Given the description of an element on the screen output the (x, y) to click on. 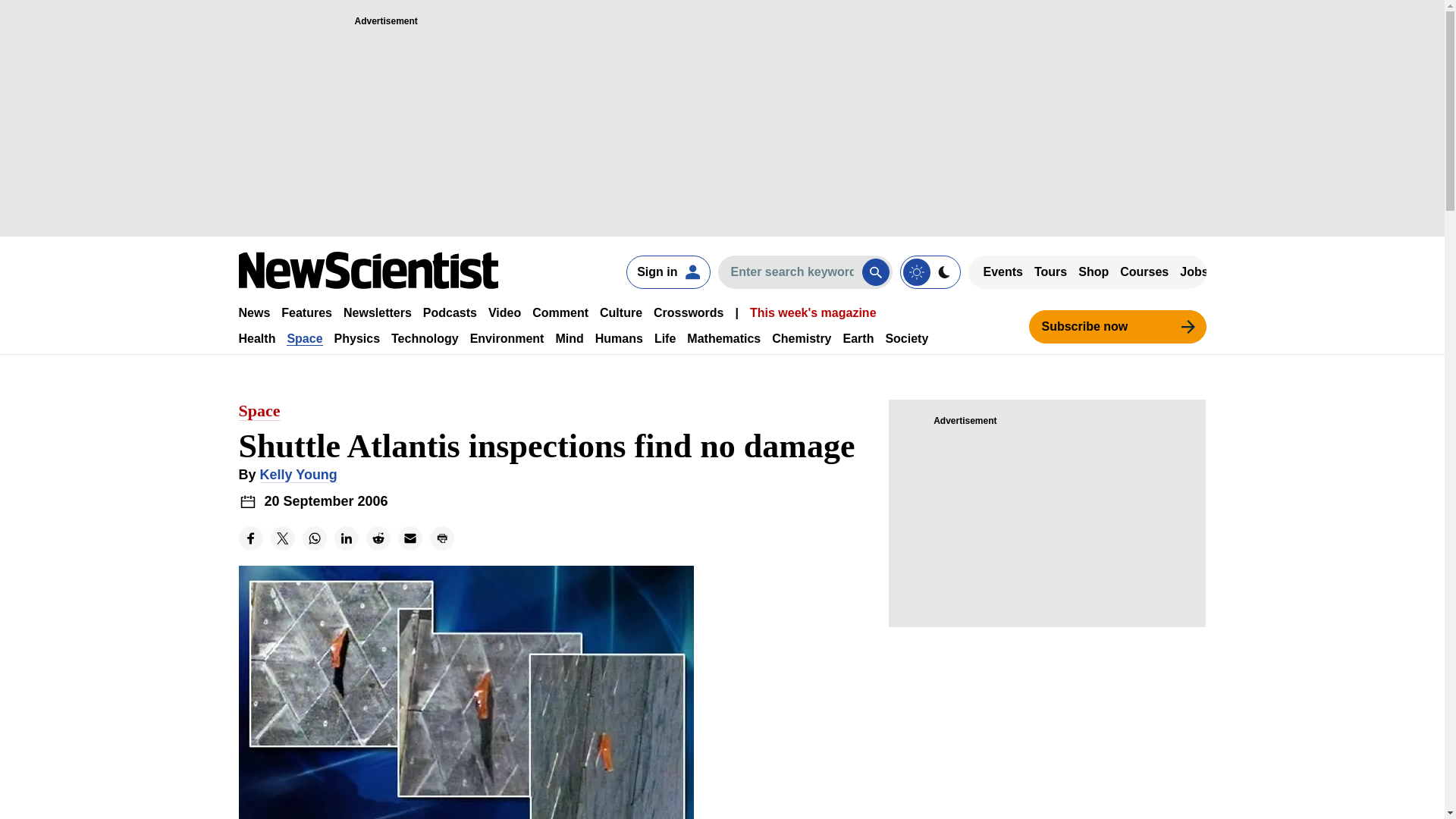
Society (906, 338)
Earth (859, 338)
Technology (424, 338)
Shop (1093, 272)
Link to the homepage (367, 270)
Calendar icon (247, 501)
Health (256, 338)
Culture (620, 313)
Comment (560, 313)
Sign in (668, 272)
Events (1002, 272)
Video (504, 313)
This week's magazine (812, 313)
Space (303, 338)
News (253, 313)
